Given the description of an element on the screen output the (x, y) to click on. 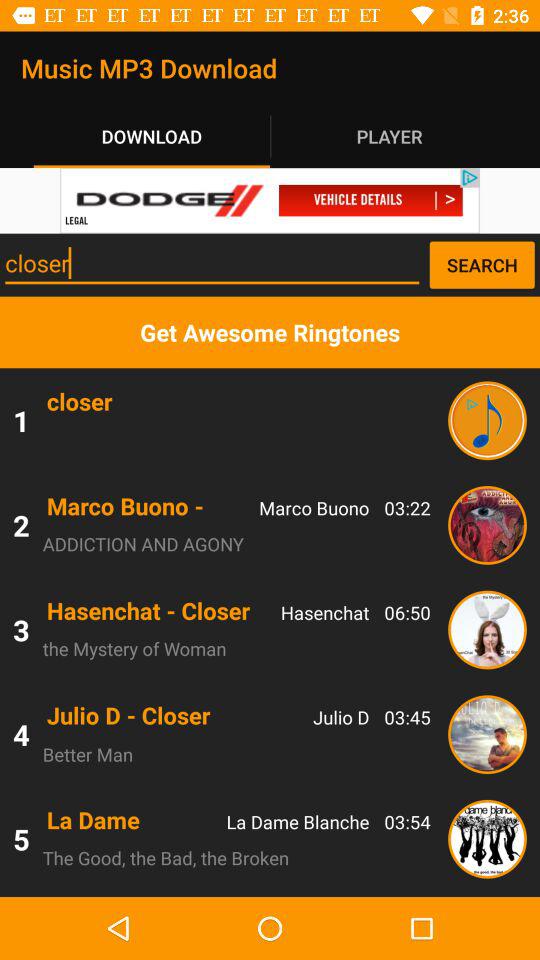
click advertisement (270, 200)
